Given the description of an element on the screen output the (x, y) to click on. 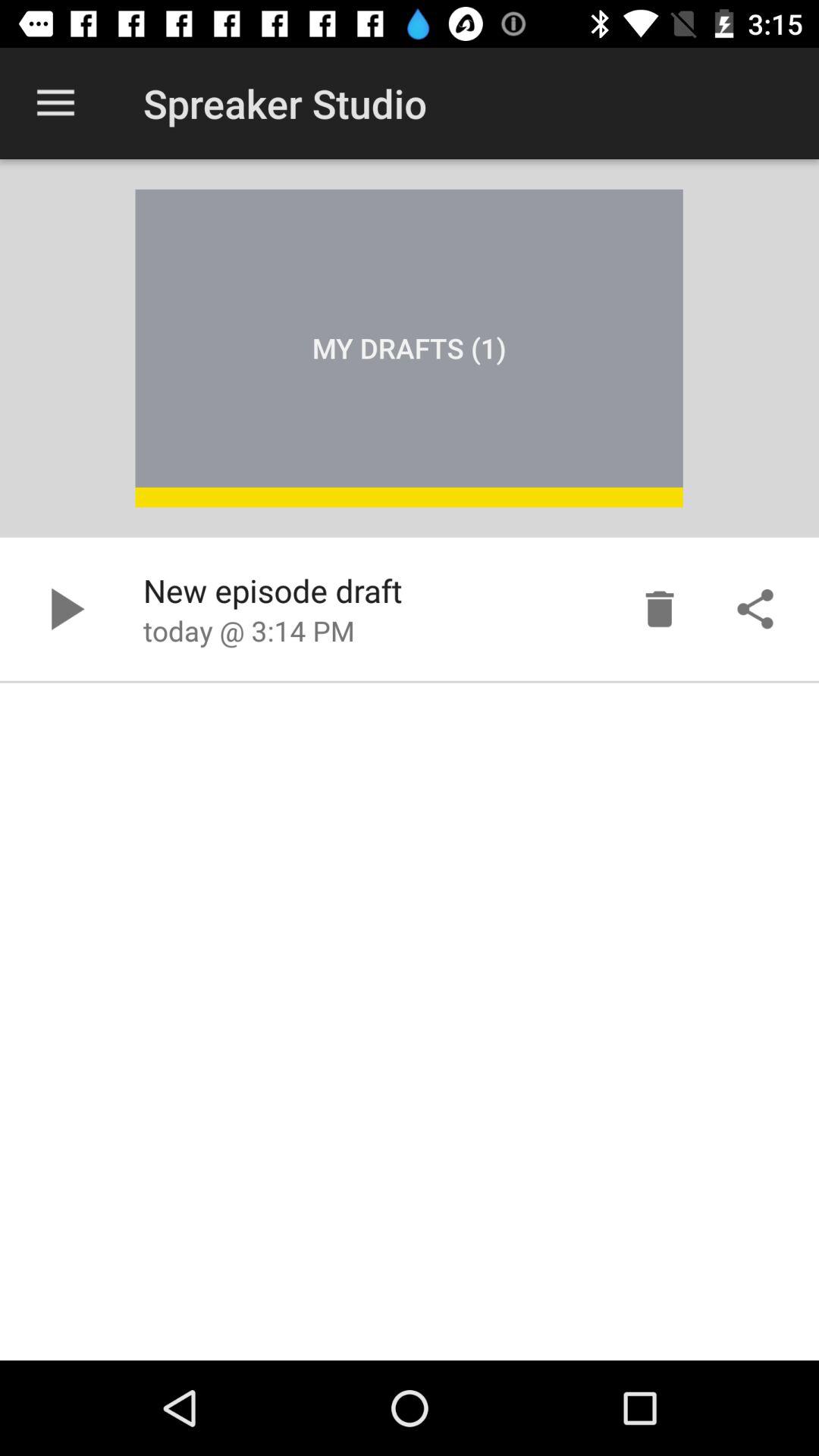
play button (63, 608)
